Given the description of an element on the screen output the (x, y) to click on. 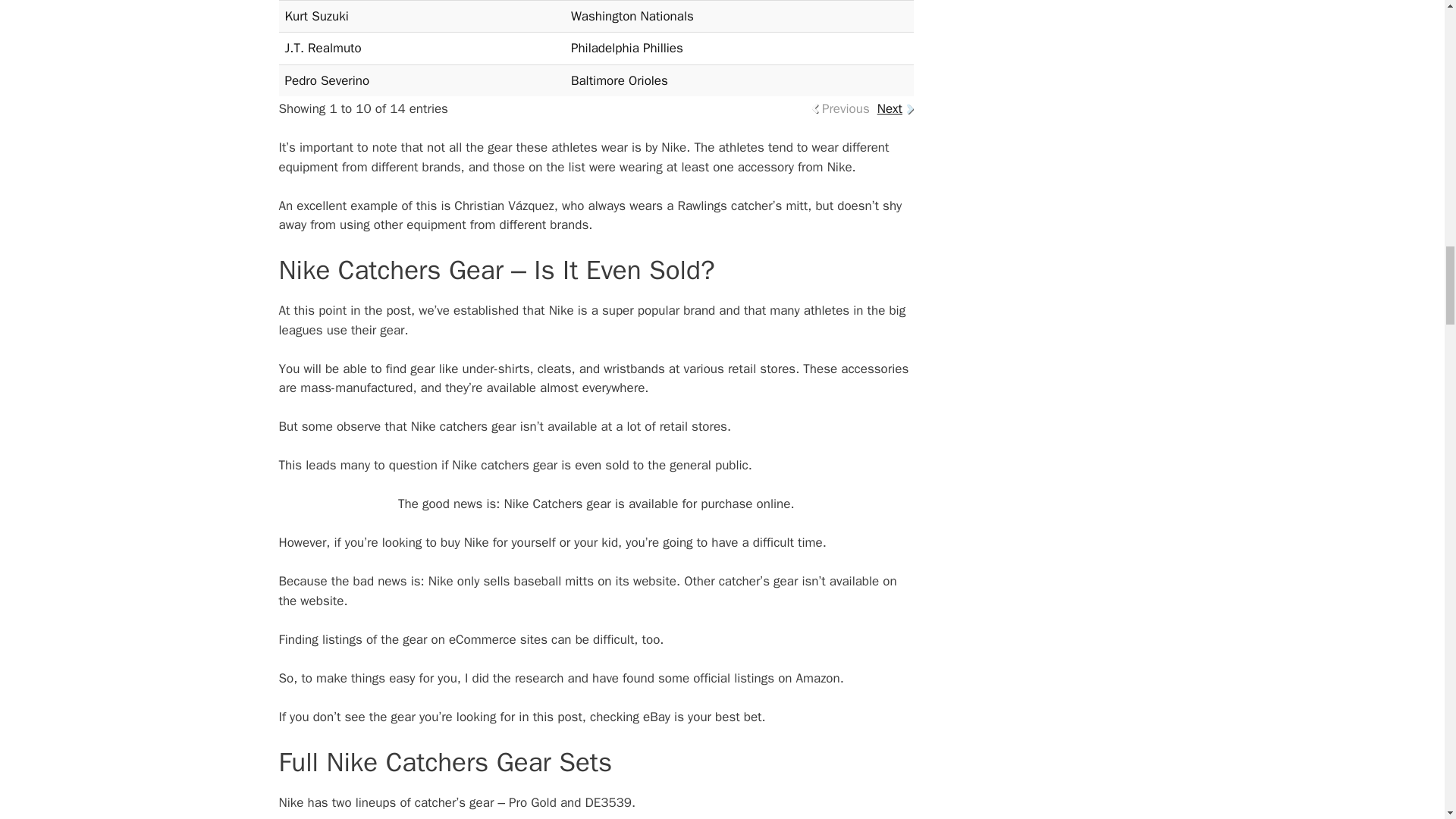
Next (889, 108)
Previous (845, 108)
